Given the description of an element on the screen output the (x, y) to click on. 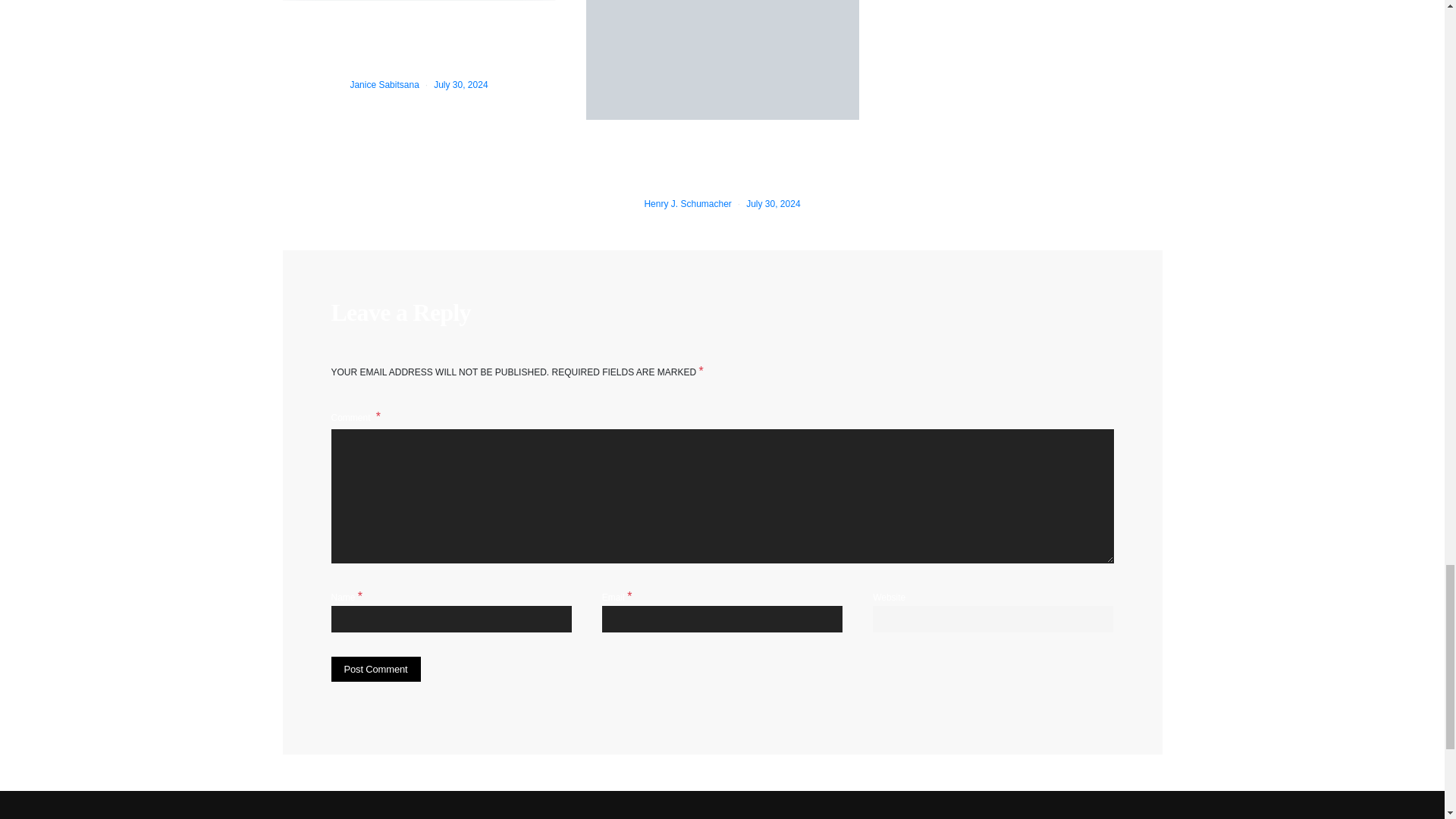
View all posts by Janice Sabitsana (384, 83)
View all posts by Henry J. Schumacher (686, 204)
Post Comment (375, 669)
